Given the description of an element on the screen output the (x, y) to click on. 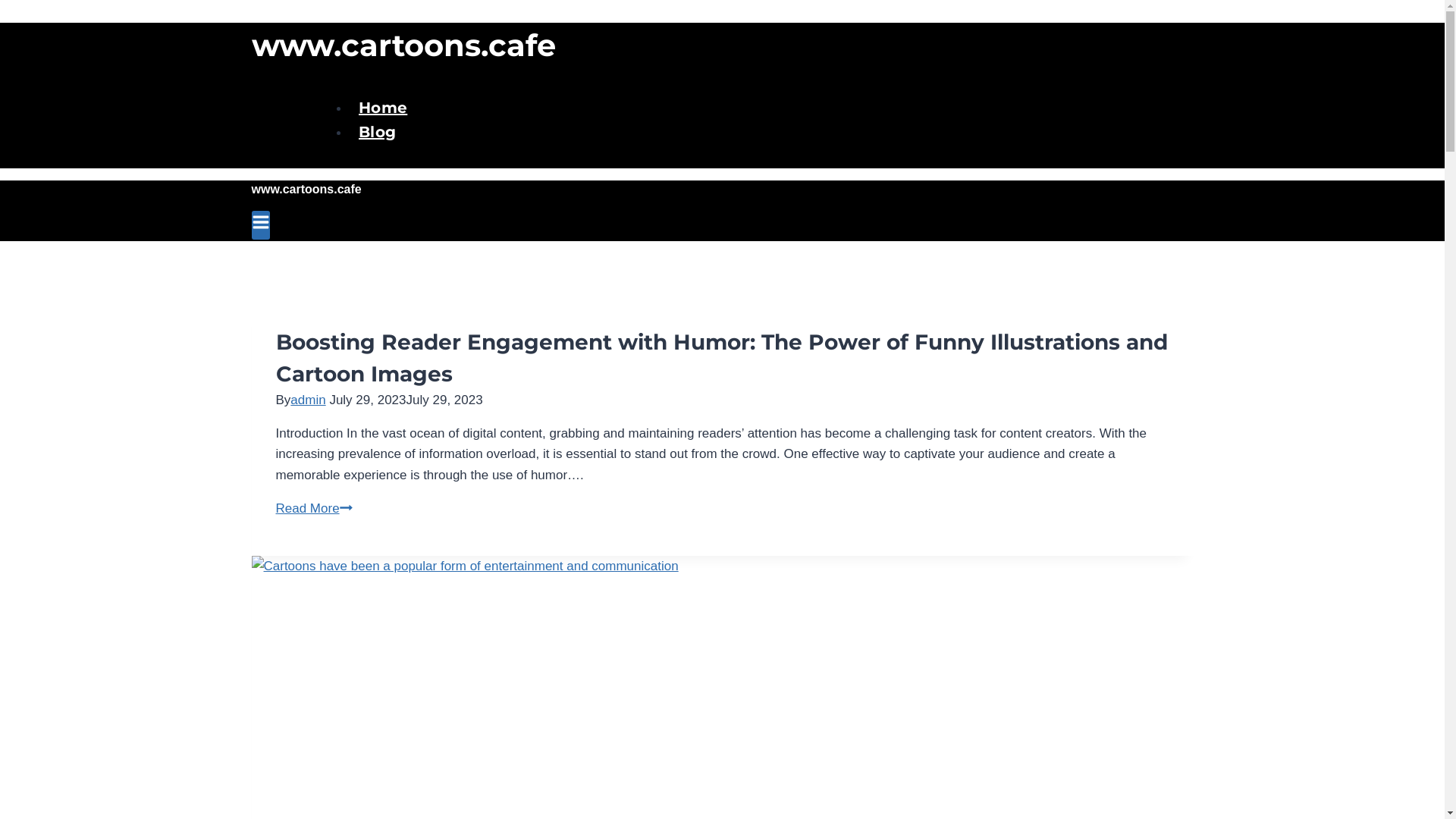
Home Element type: text (382, 107)
admin Element type: text (307, 399)
Blog Element type: text (376, 131)
